Given the description of an element on the screen output the (x, y) to click on. 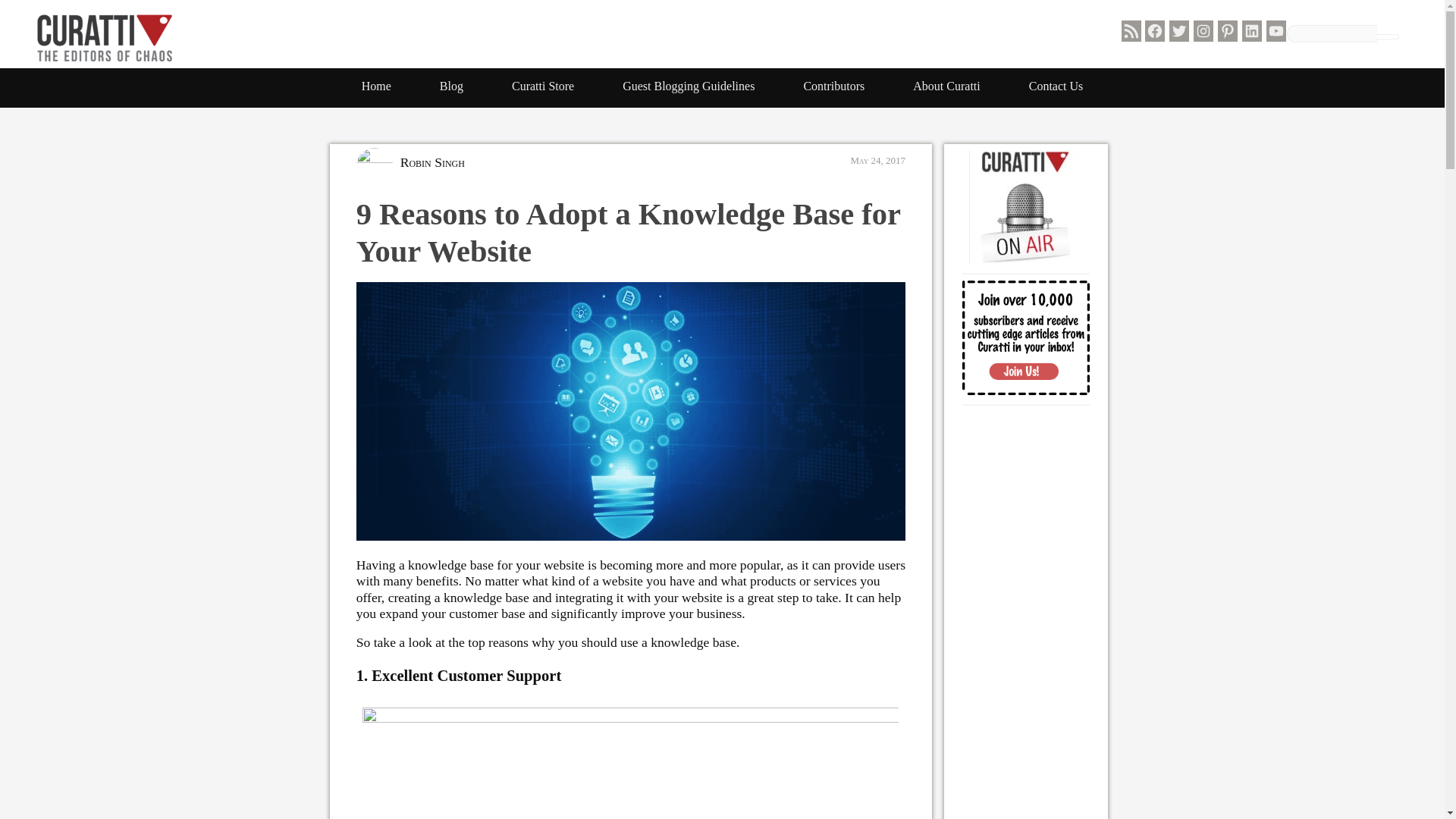
YouTube (1275, 30)
Contributors (833, 85)
Contact Us (1056, 85)
Curatti Store (542, 85)
Blog (450, 85)
About Curatti (946, 85)
Home (375, 85)
Guest Blogging Guidelines (688, 85)
Pinterest (1227, 30)
Instagram (1202, 30)
LinkedIn (1251, 30)
Twitter (1179, 30)
Facebook (1154, 30)
RSS Feed (1131, 30)
